Given the description of an element on the screen output the (x, y) to click on. 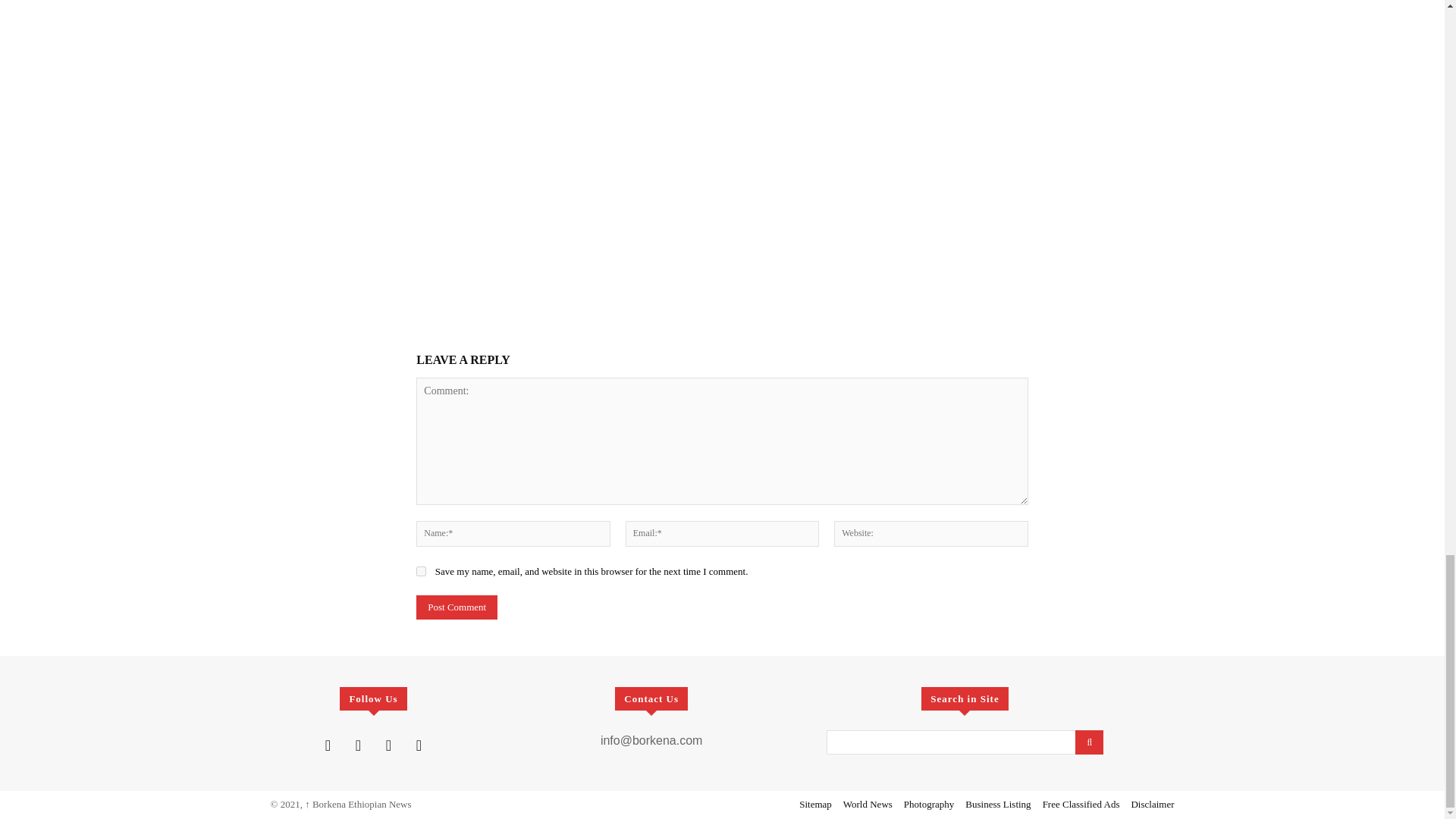
Post Comment (456, 607)
yes (421, 571)
